Given the description of an element on the screen output the (x, y) to click on. 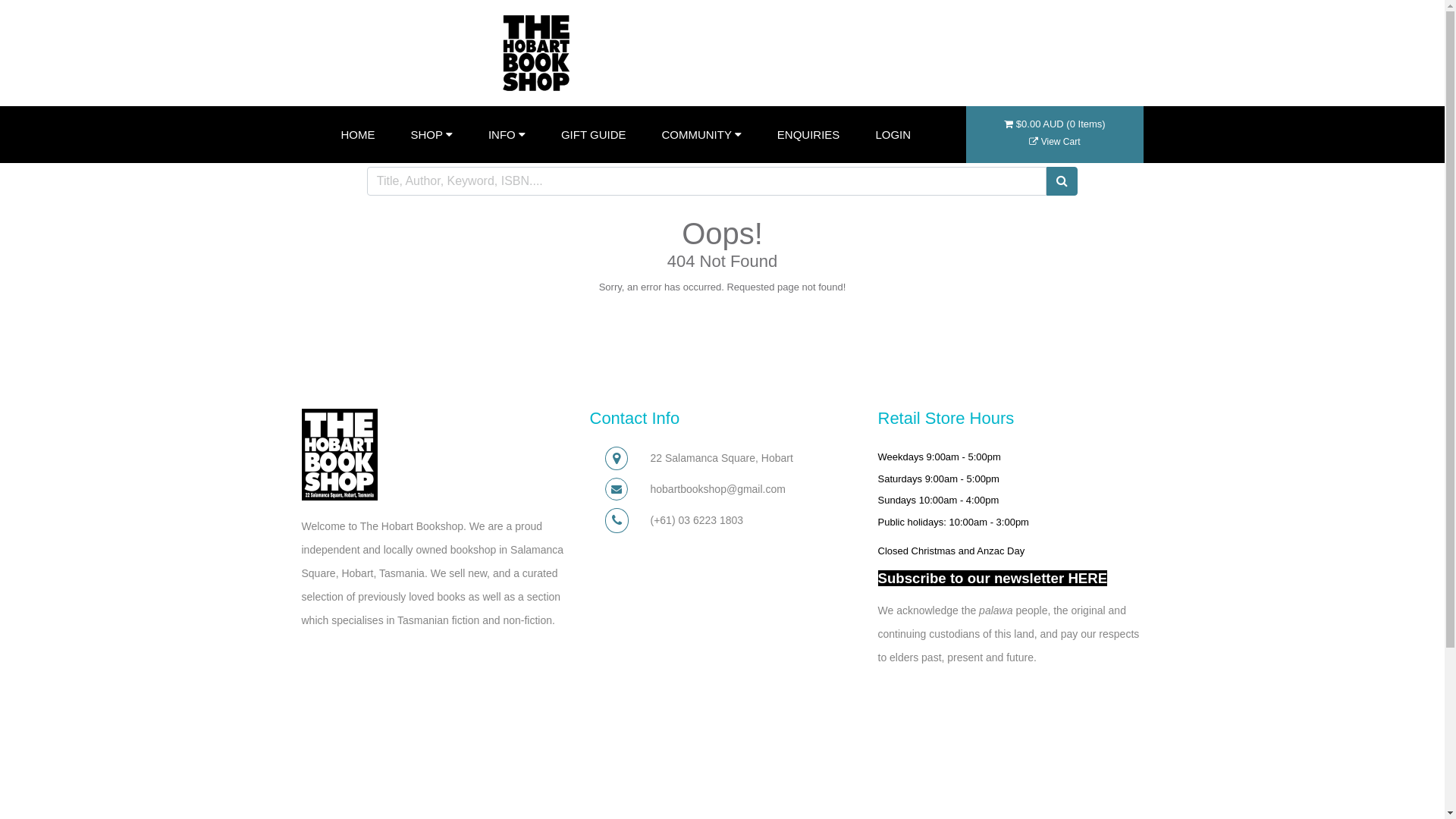
HOME
(CURRENT) Element type: text (358, 134)
INFO  Element type: text (506, 134)
GIFT GUIDE Element type: text (593, 134)
Subscribe to our newsletter HERE Element type: text (992, 578)
ENQUIRIES Element type: text (808, 134)
(+61) 03 6223 1803 Element type: text (696, 520)
hobartbookshop@gmail.com Element type: text (717, 489)
Take Me Home Element type: text (718, 324)
COMMUNITY  Element type: text (701, 134)
SHOP  Element type: text (431, 134)
$0.00 AUD (0 Items) Element type: text (1054, 132)
LOGIN Element type: text (892, 134)
 View Cart Element type: text (1054, 141)
